Given the description of an element on the screen output the (x, y) to click on. 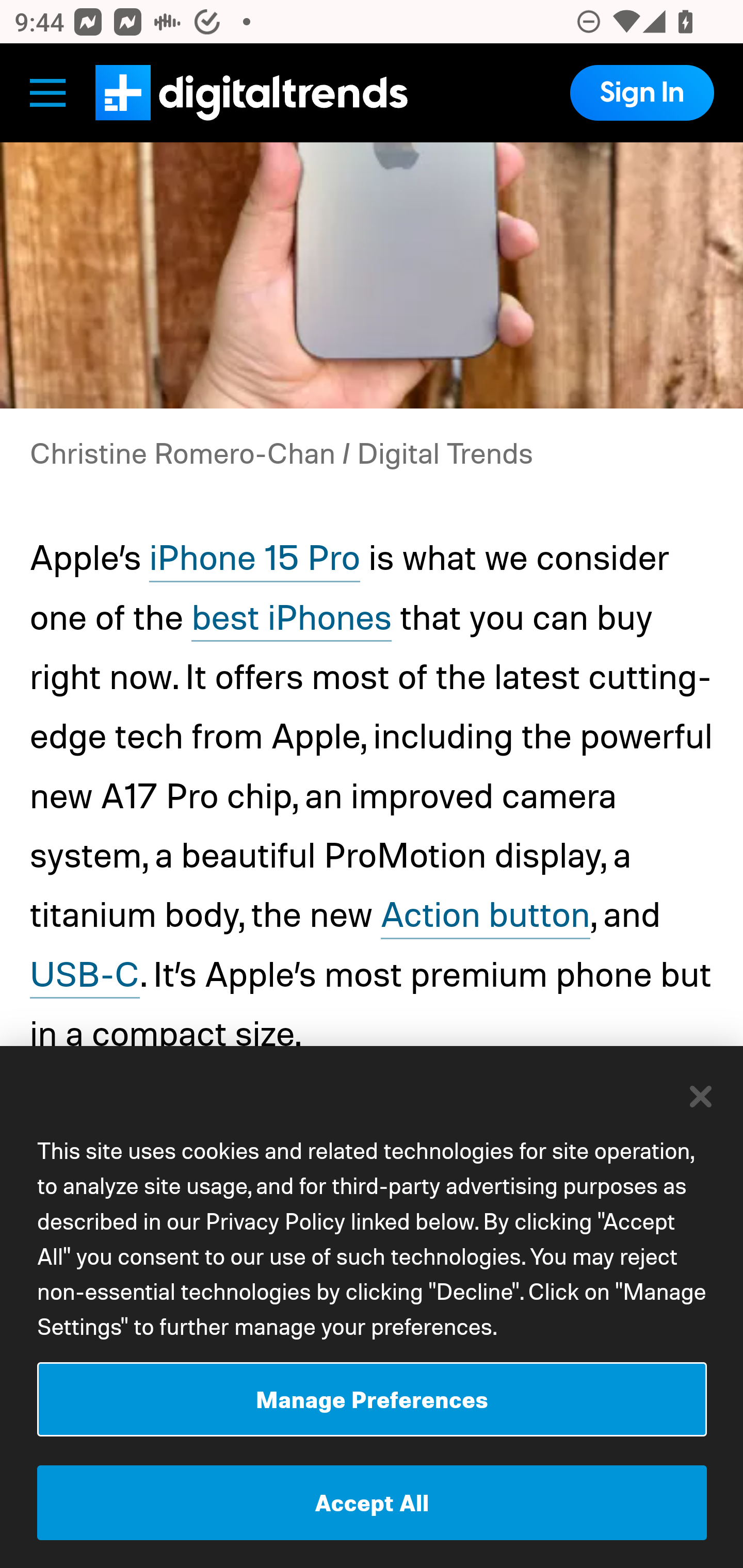
www.digitaltrends (251, 92)
Sign In (641, 92)
iPhone 15 Pro (254, 558)
best iPhones (292, 618)
Action button (483, 916)
USB-C (84, 975)
Close (701, 1095)
Manage Preferences (372, 1399)
Accept All (372, 1502)
